Given the description of an element on the screen output the (x, y) to click on. 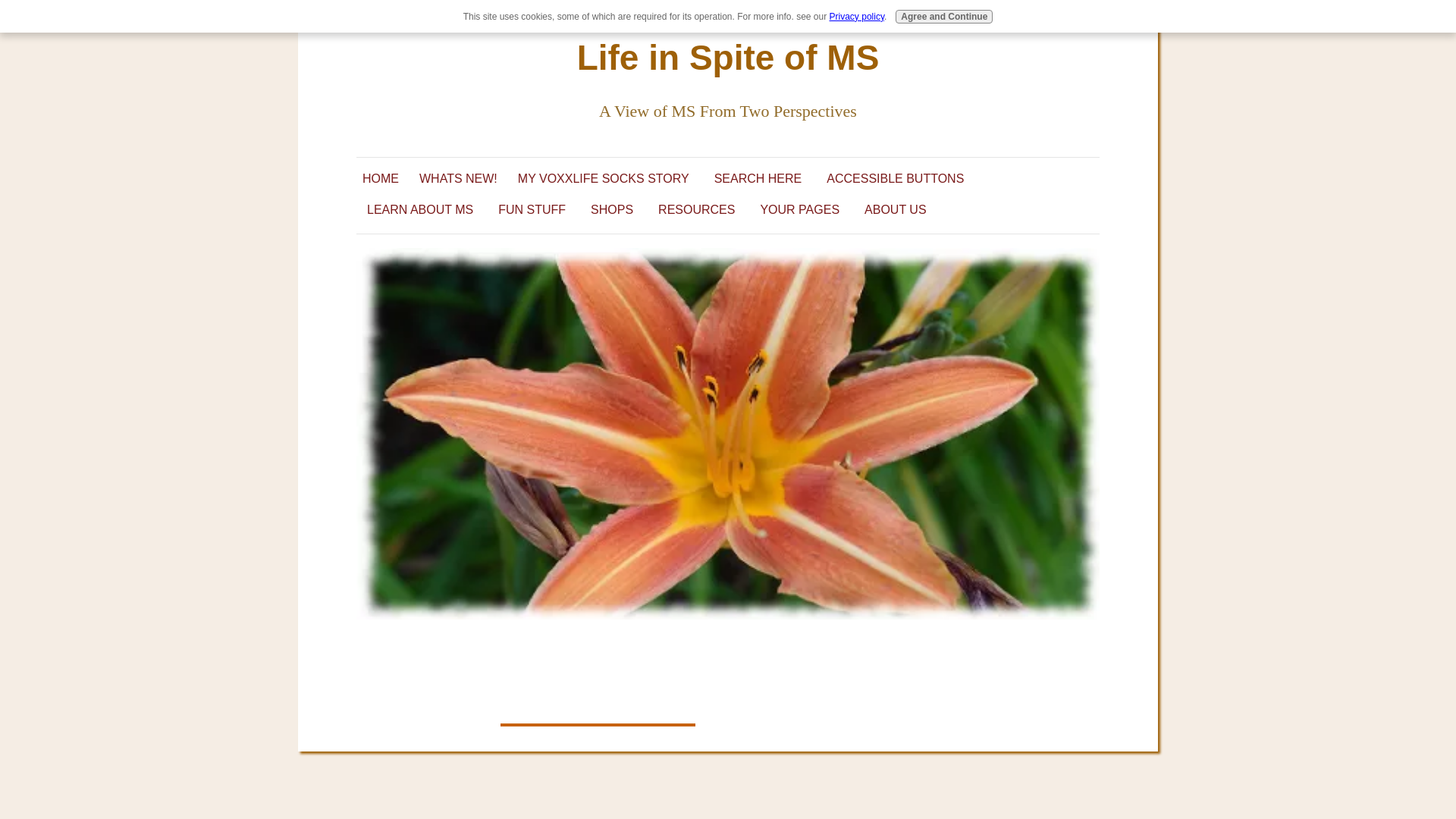
Life in Spite of MS (727, 56)
WHATS NEW! (462, 179)
HOME (384, 179)
MY VOXXLIFE SOCKS STORY (607, 179)
